Given the description of an element on the screen output the (x, y) to click on. 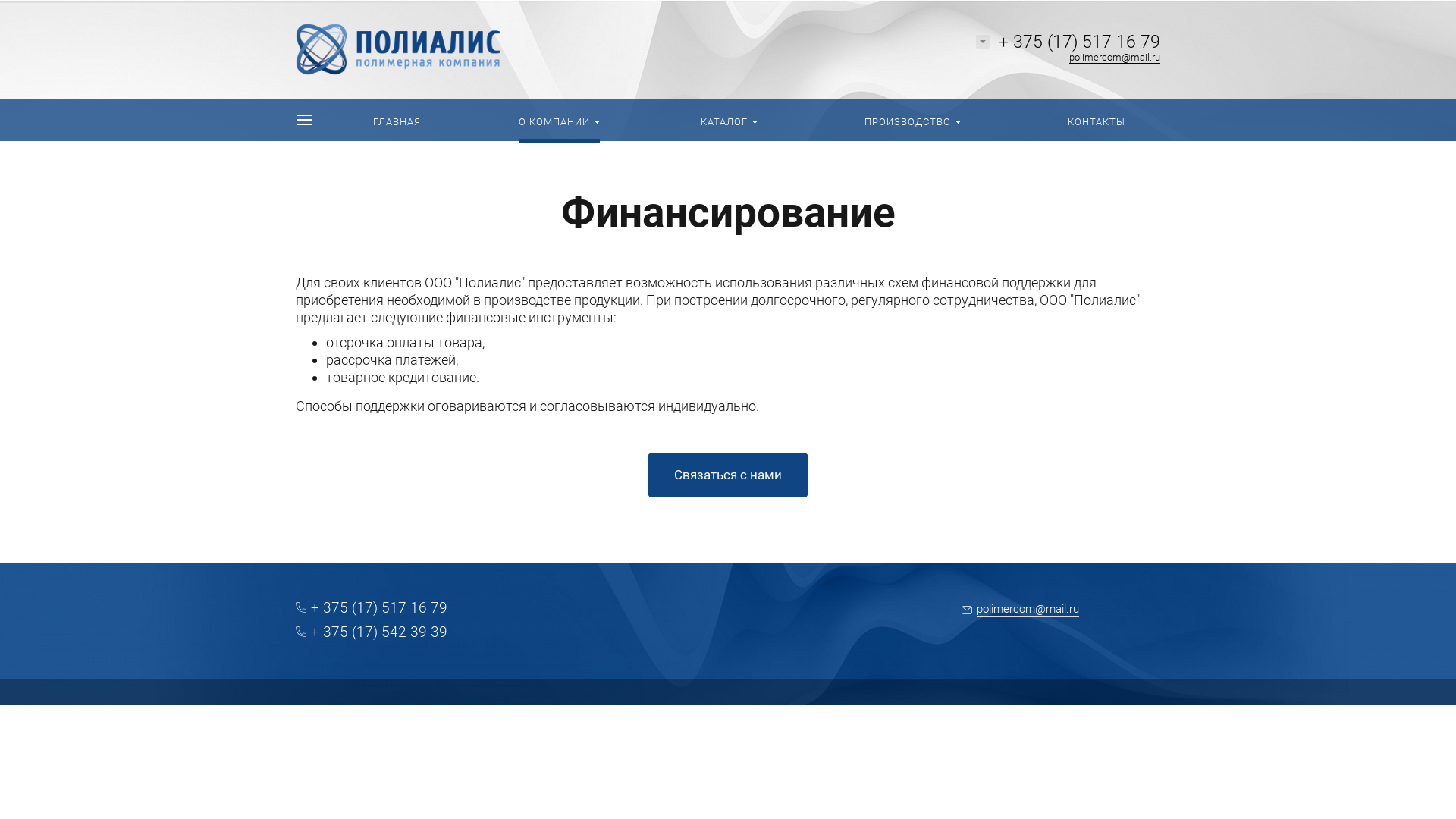
polimercom@mail.ru Element type: text (1020, 609)
polimercom@mail.ru Element type: text (1114, 57)
